Given the description of an element on the screen output the (x, y) to click on. 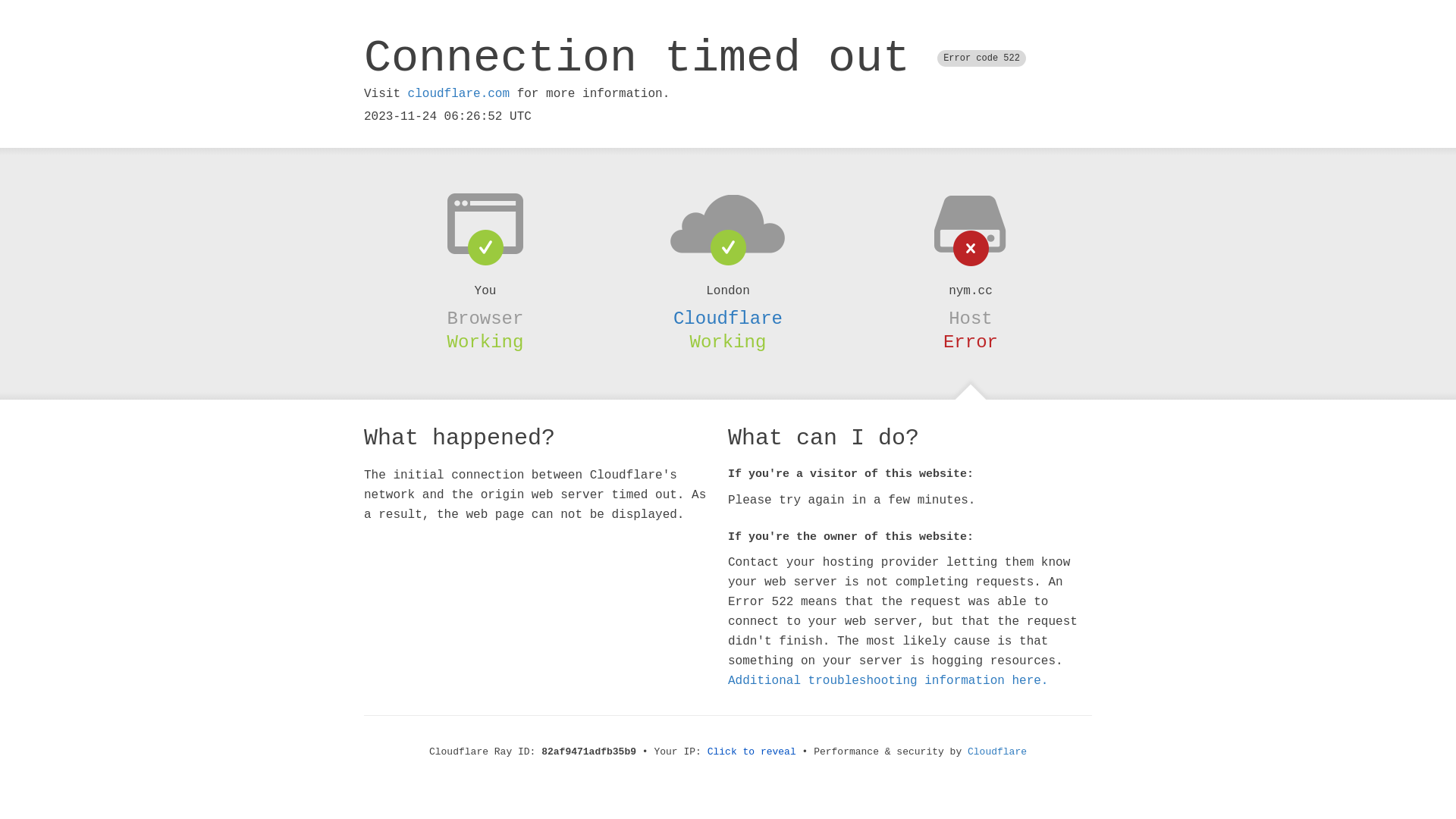
cloudflare.com Element type: text (458, 93)
Click to reveal Element type: text (751, 751)
Additional troubleshooting information here. Element type: text (888, 680)
Cloudflare Element type: text (727, 318)
Cloudflare Element type: text (996, 751)
